Given the description of an element on the screen output the (x, y) to click on. 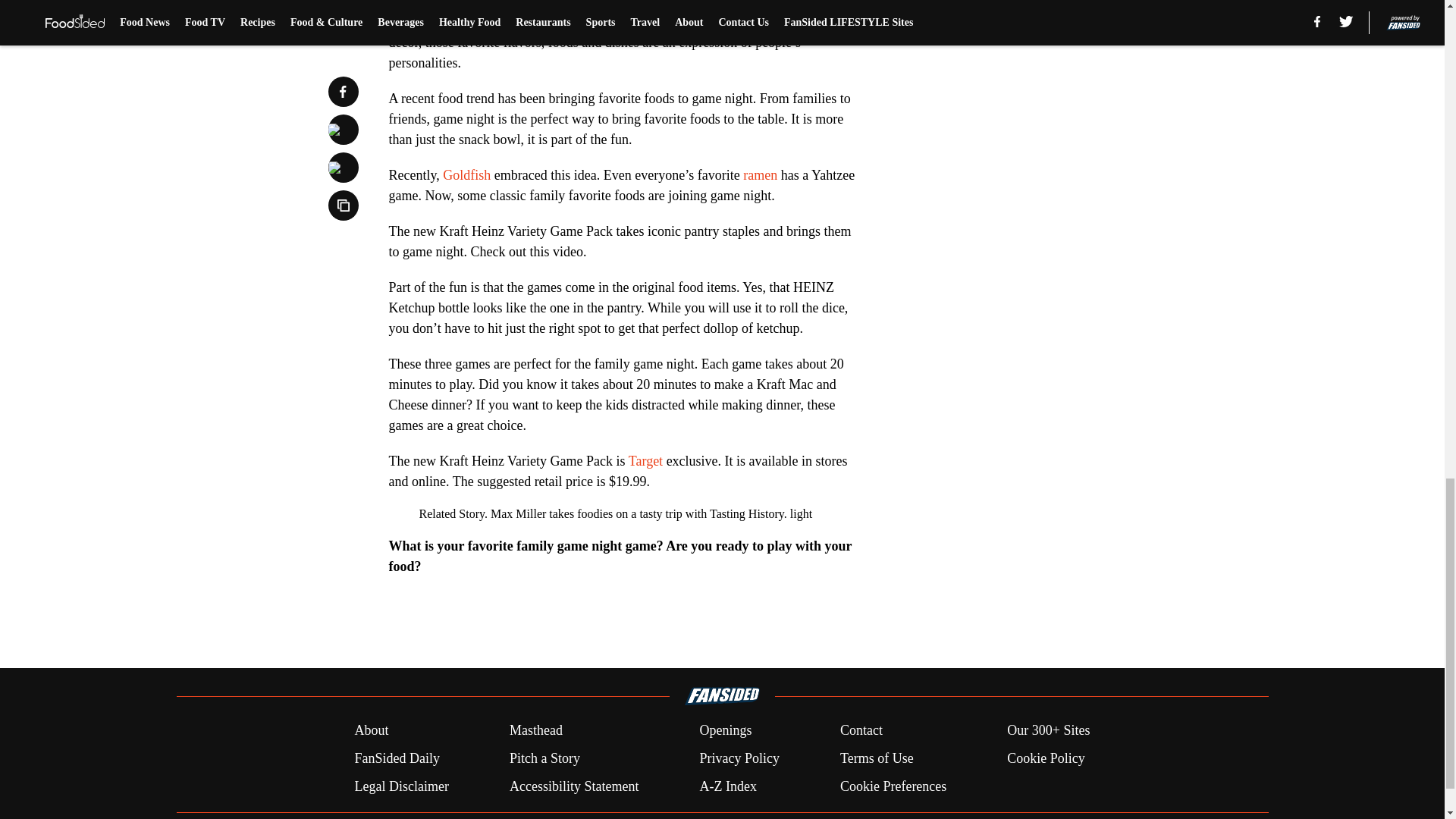
Goldfish (466, 174)
A-Z Index (726, 786)
Openings (724, 730)
Contact (861, 730)
Legal Disclaimer (400, 786)
About (370, 730)
Privacy Policy (738, 758)
food fashion (775, 21)
Target (645, 460)
Cookie Policy (1045, 758)
ramen (759, 174)
Accessibility Statement (574, 786)
Pitch a Story (544, 758)
FanSided Daily (396, 758)
Terms of Use (877, 758)
